Given the description of an element on the screen output the (x, y) to click on. 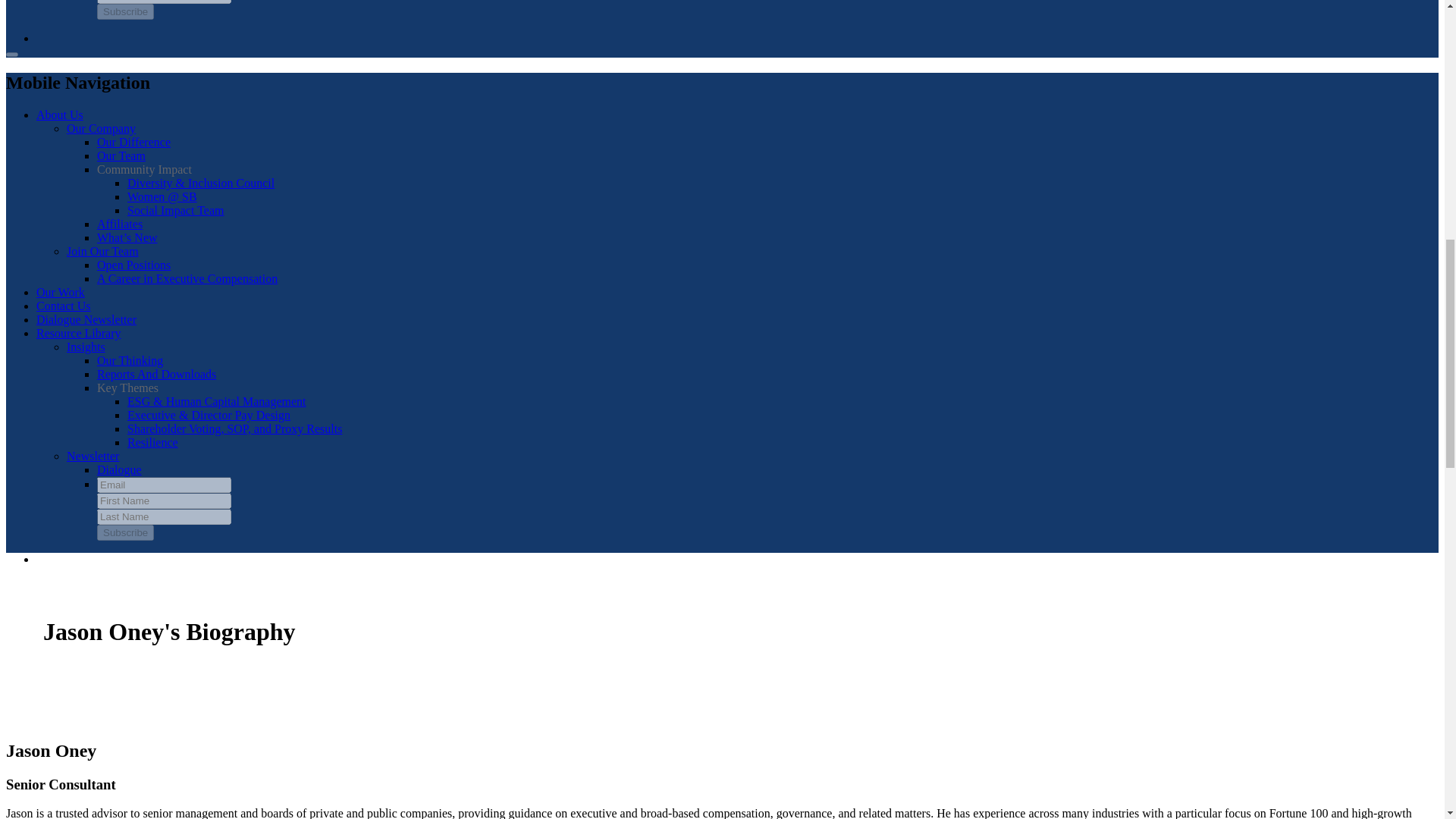
insights (130, 359)
Subscribe (125, 11)
key-themes (127, 387)
Our Team (121, 155)
affiliates (119, 223)
whats-new (127, 237)
About Us (59, 114)
Community Impact (144, 169)
Our Company (100, 128)
Our Difference (133, 141)
our-difference (133, 141)
dialogue (119, 469)
dialogue (86, 318)
insights (156, 373)
